Given the description of an element on the screen output the (x, y) to click on. 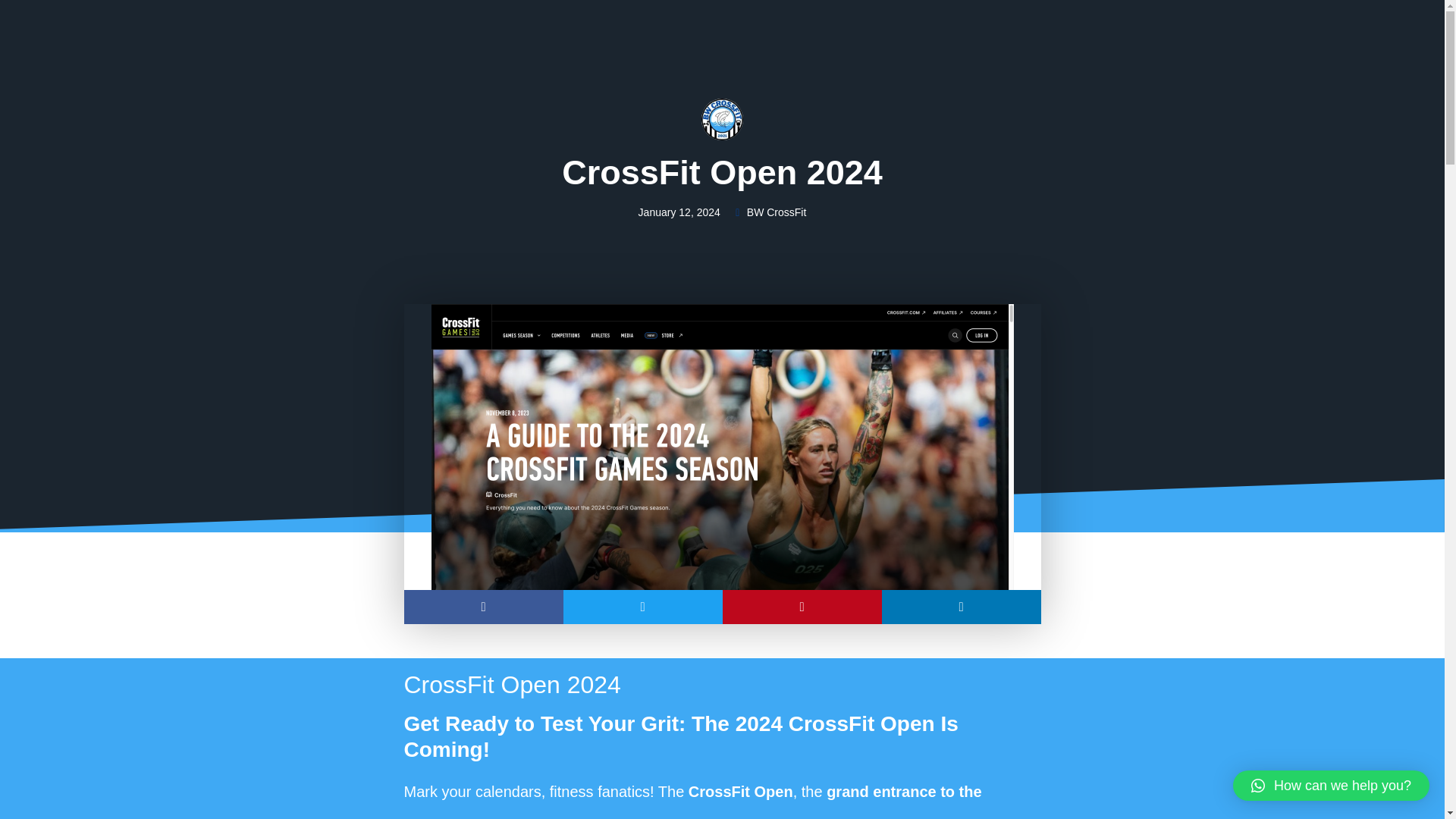
How can we help you? (1331, 785)
January 12, 2024 (679, 212)
